Given the description of an element on the screen output the (x, y) to click on. 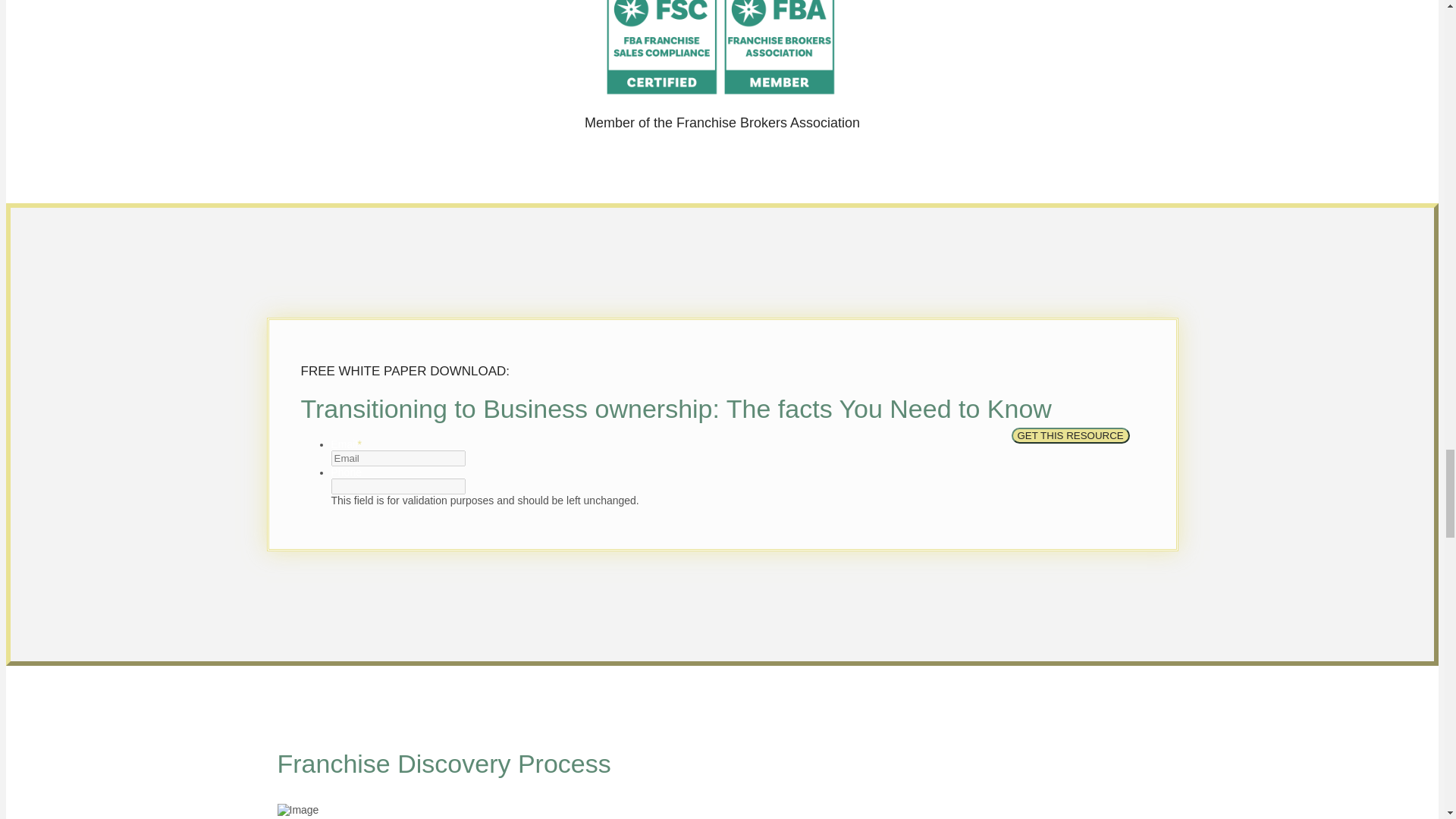
GET THIS RESOURCE (1070, 435)
GET THIS RESOURCE (1070, 435)
